Given the description of an element on the screen output the (x, y) to click on. 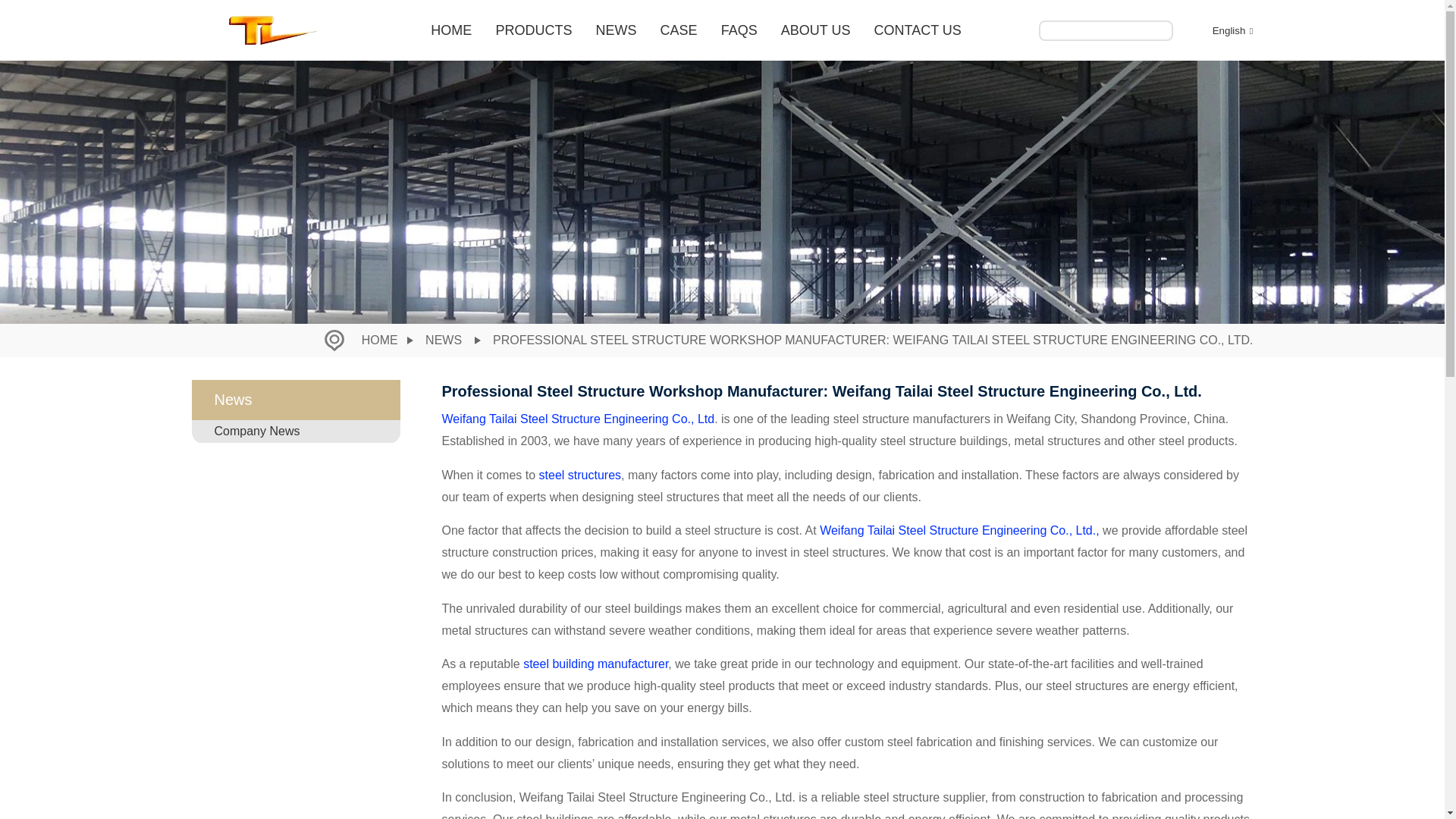
CASE (679, 30)
steel structures (579, 474)
HOME (451, 30)
NEWS (615, 30)
Weifang Tailai Steel Structure Engineering Co., Ltd (577, 418)
NEWS (443, 339)
ABOUT US (815, 30)
PRODUCTS (534, 30)
FAQS (738, 30)
